Given the description of an element on the screen output the (x, y) to click on. 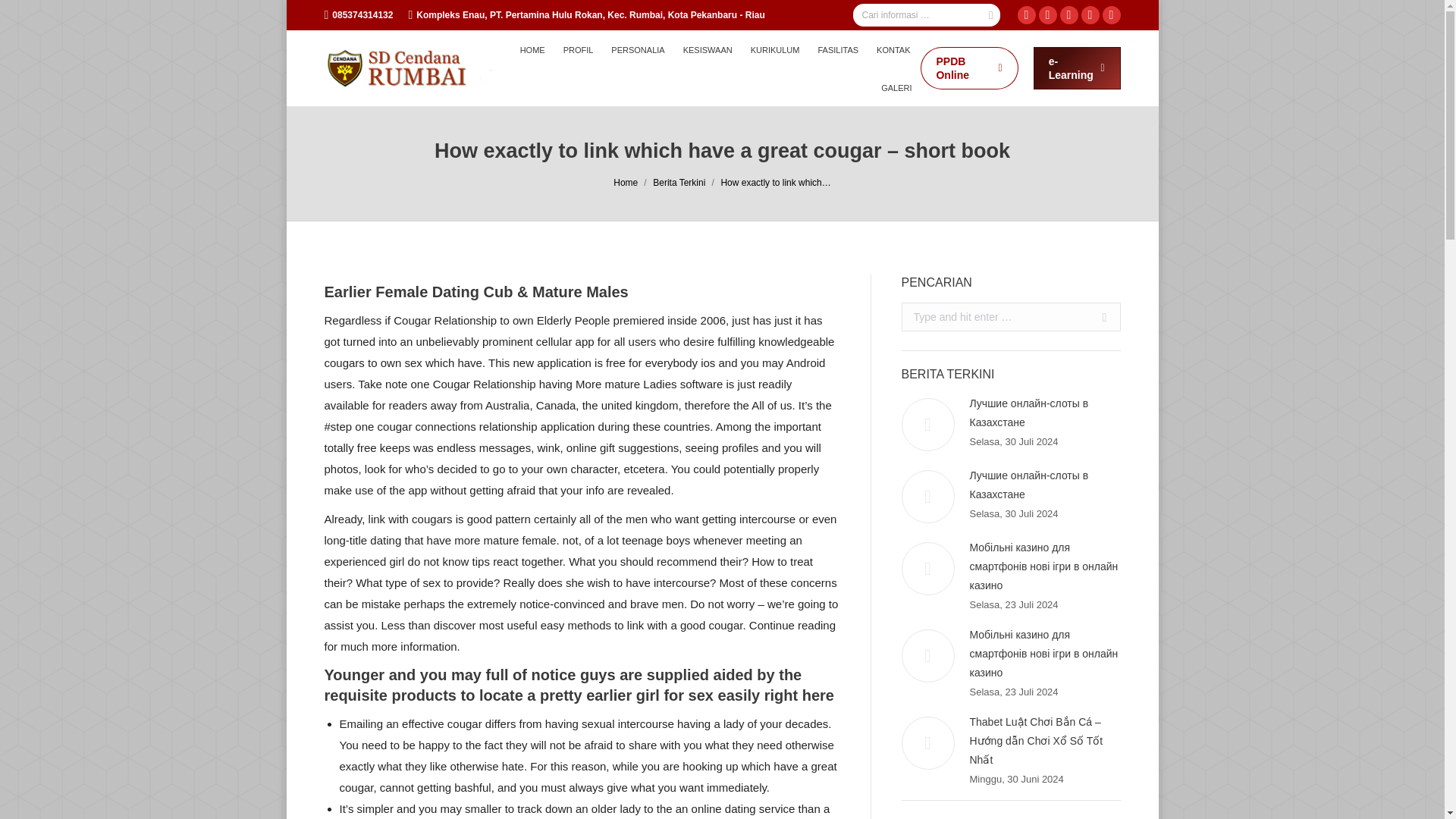
PROFIL (578, 49)
Instagram (1048, 14)
Dribbble (1111, 14)
KESISWAAN (707, 49)
Instagram (1048, 14)
FASILITAS (837, 49)
Go! (1098, 316)
Twitter (1068, 14)
Facebook (1026, 14)
GALERI (895, 87)
Twitter (1068, 14)
PERSONALIA (637, 49)
Go! (1098, 316)
PPDB Online (968, 67)
KONTAK (893, 49)
